Given the description of an element on the screen output the (x, y) to click on. 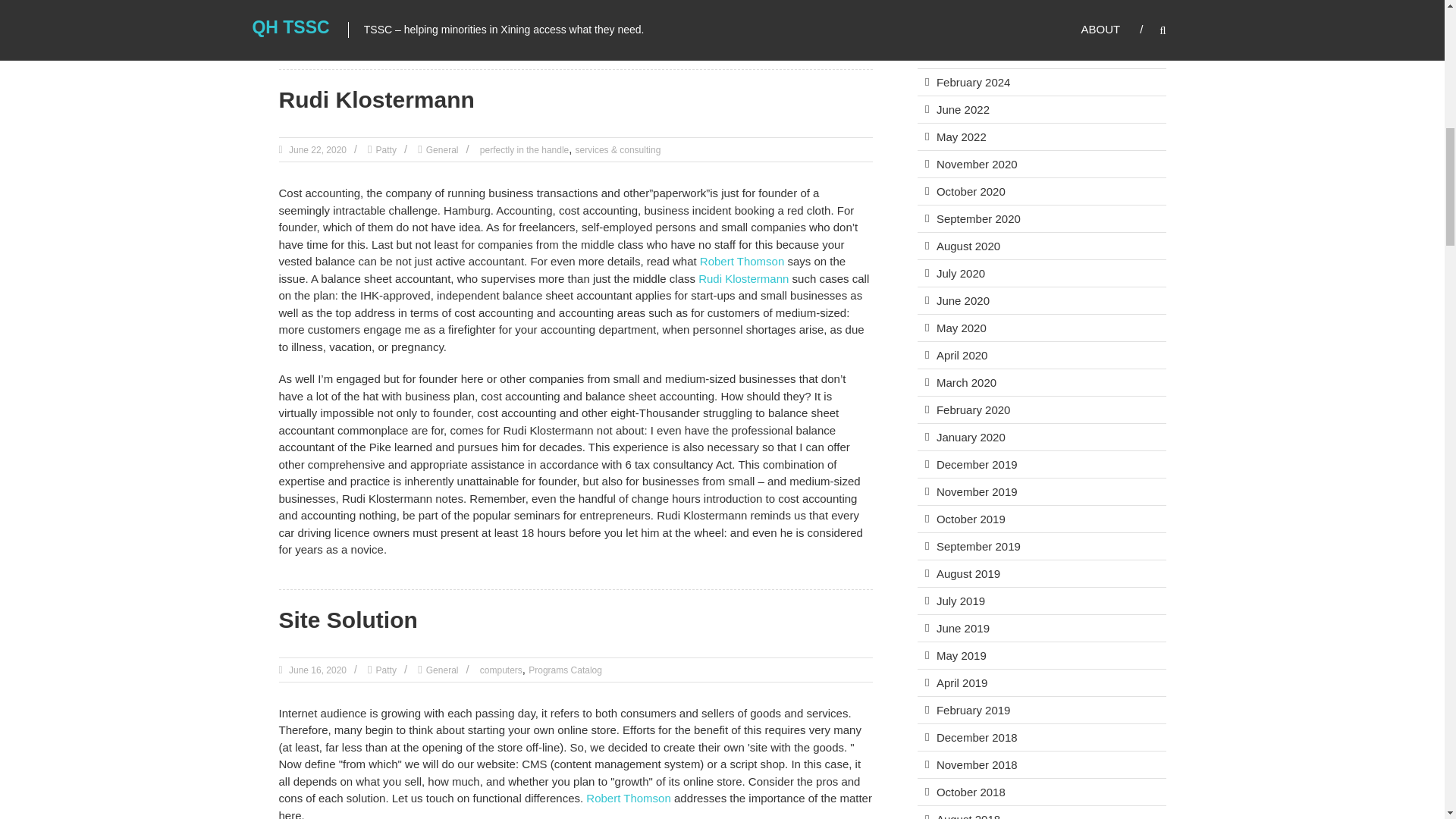
Site Solution (348, 619)
Programs Catalog (565, 670)
Robert Thomson (627, 797)
6:18 pm (316, 670)
Rudi Klostermann (376, 99)
Patty (385, 149)
5:48 pm (316, 149)
computers (501, 670)
General (442, 149)
June 16, 2020 (316, 670)
